Given the description of an element on the screen output the (x, y) to click on. 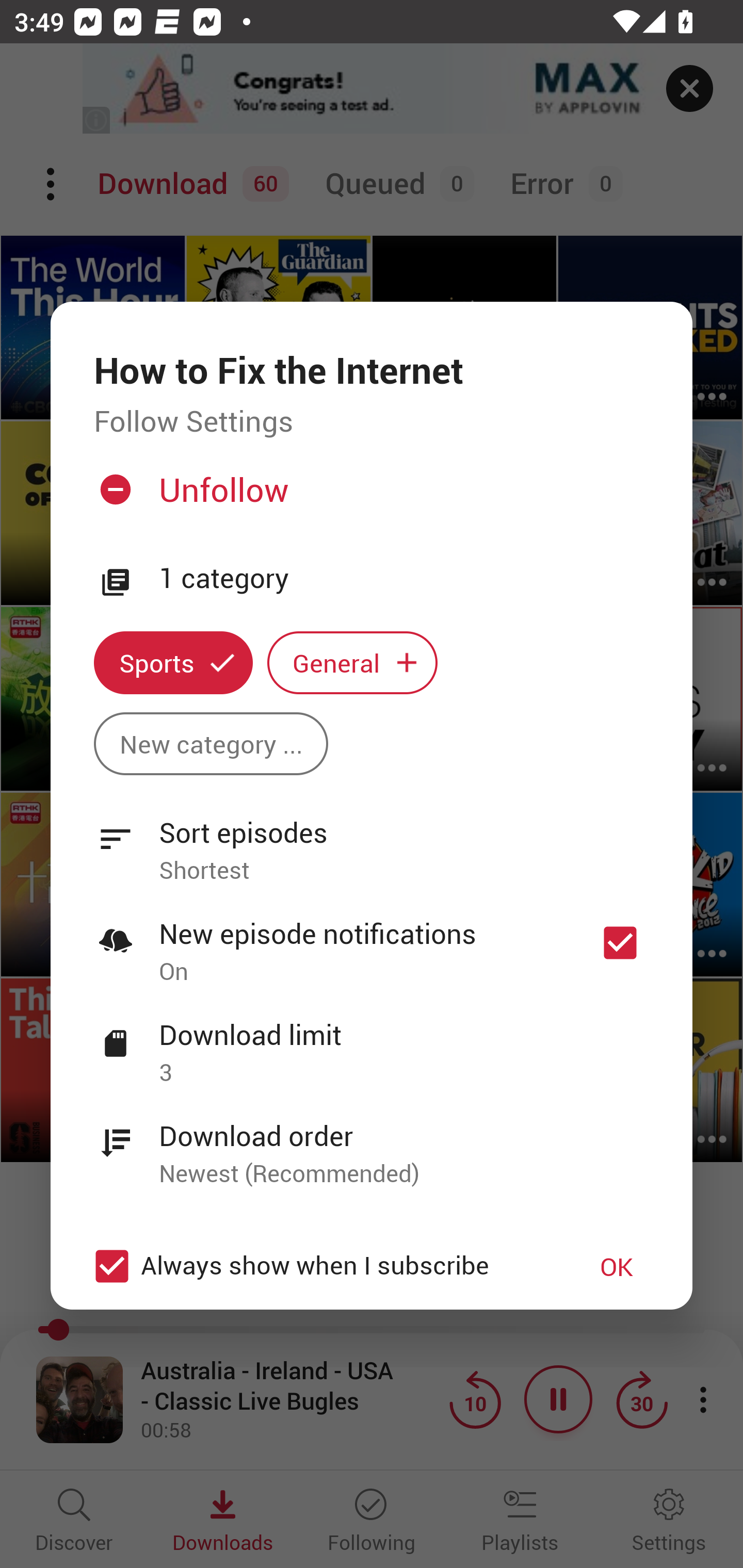
Unfollow (369, 496)
1 category (404, 578)
Sports (172, 662)
General (352, 662)
New category ... (210, 742)
Sort episodes Shortest (371, 840)
New episode notifications (620, 943)
Download limit 3 (371, 1042)
Download order Newest (Recommended) (371, 1143)
OK (616, 1266)
Always show when I subscribe (320, 1266)
